Given the description of an element on the screen output the (x, y) to click on. 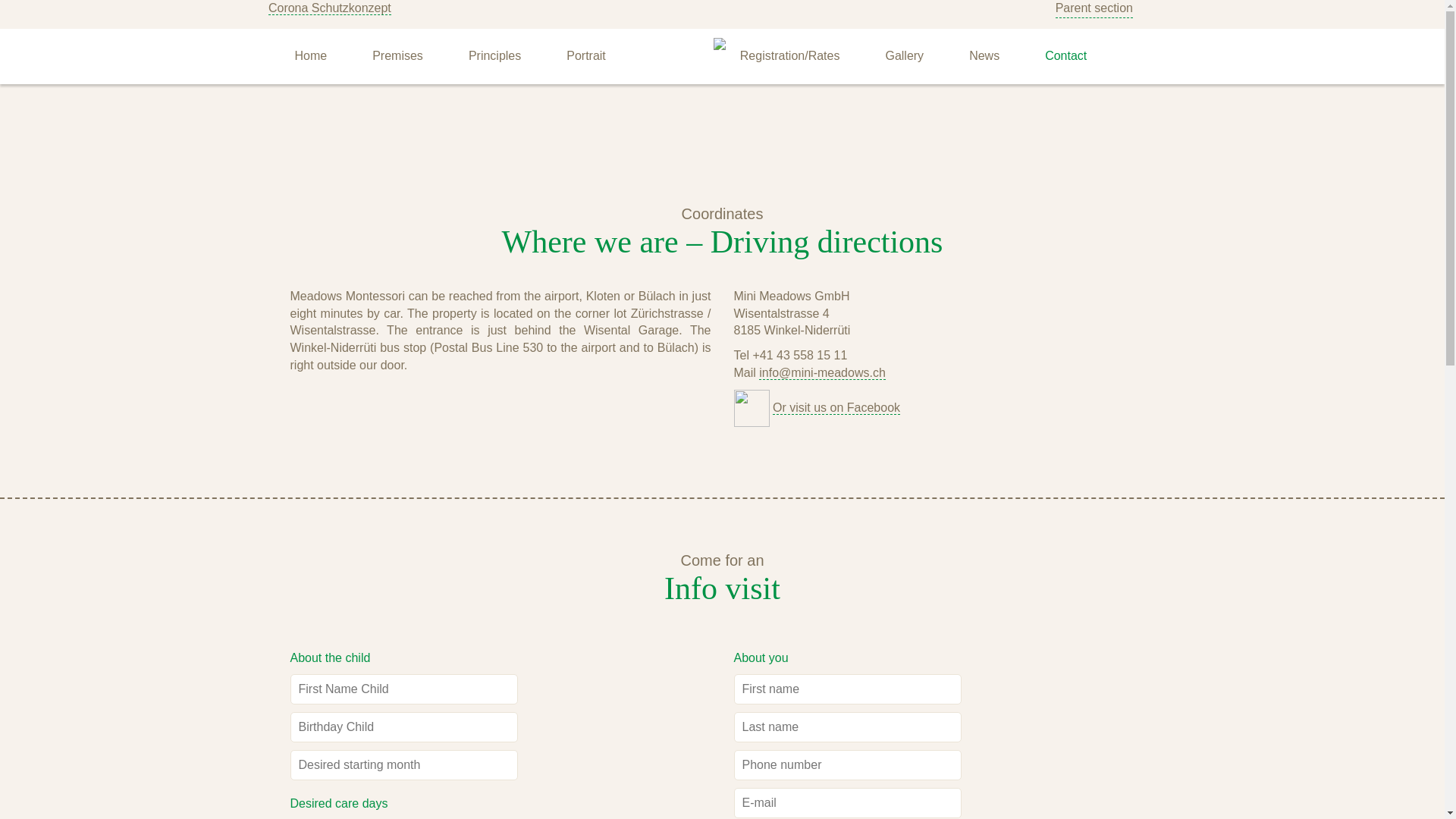
Or visit us on Facebook (836, 407)
Gallery (904, 56)
Parent section (1093, 9)
Parent section (1093, 9)
Corona Schutzkonzept (329, 8)
Contact (1065, 56)
Premises (398, 56)
News (983, 56)
Corona Schutzkonzept (329, 8)
Home (310, 56)
Portrait (586, 56)
Principles (494, 56)
Meadows auf Facebook (836, 407)
